Given the description of an element on the screen output the (x, y) to click on. 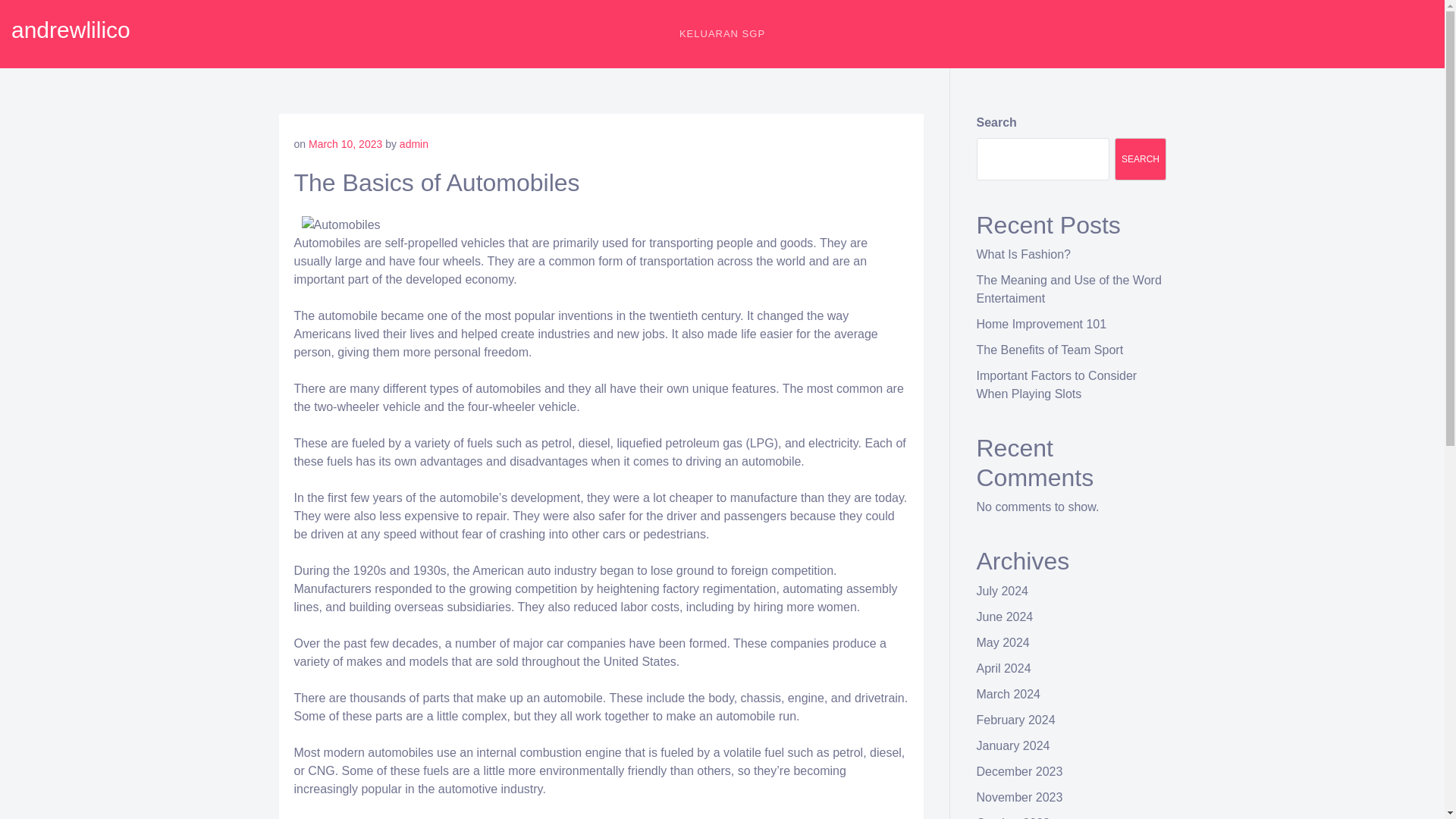
admin (413, 143)
January 2024 (1012, 745)
What Is Fashion? (1023, 254)
December 2023 (1019, 771)
July 2024 (1002, 590)
andrewlilico (71, 29)
The Meaning and Use of the Word Entertaiment (1068, 288)
SEARCH (1140, 159)
Home Improvement 101 (1041, 323)
November 2023 (1019, 797)
May 2024 (1002, 642)
March 10, 2023 (344, 143)
Important Factors to Consider When Playing Slots (1056, 384)
KELUARAN SGP (722, 33)
The Benefits of Team Sport (1050, 349)
